Given the description of an element on the screen output the (x, y) to click on. 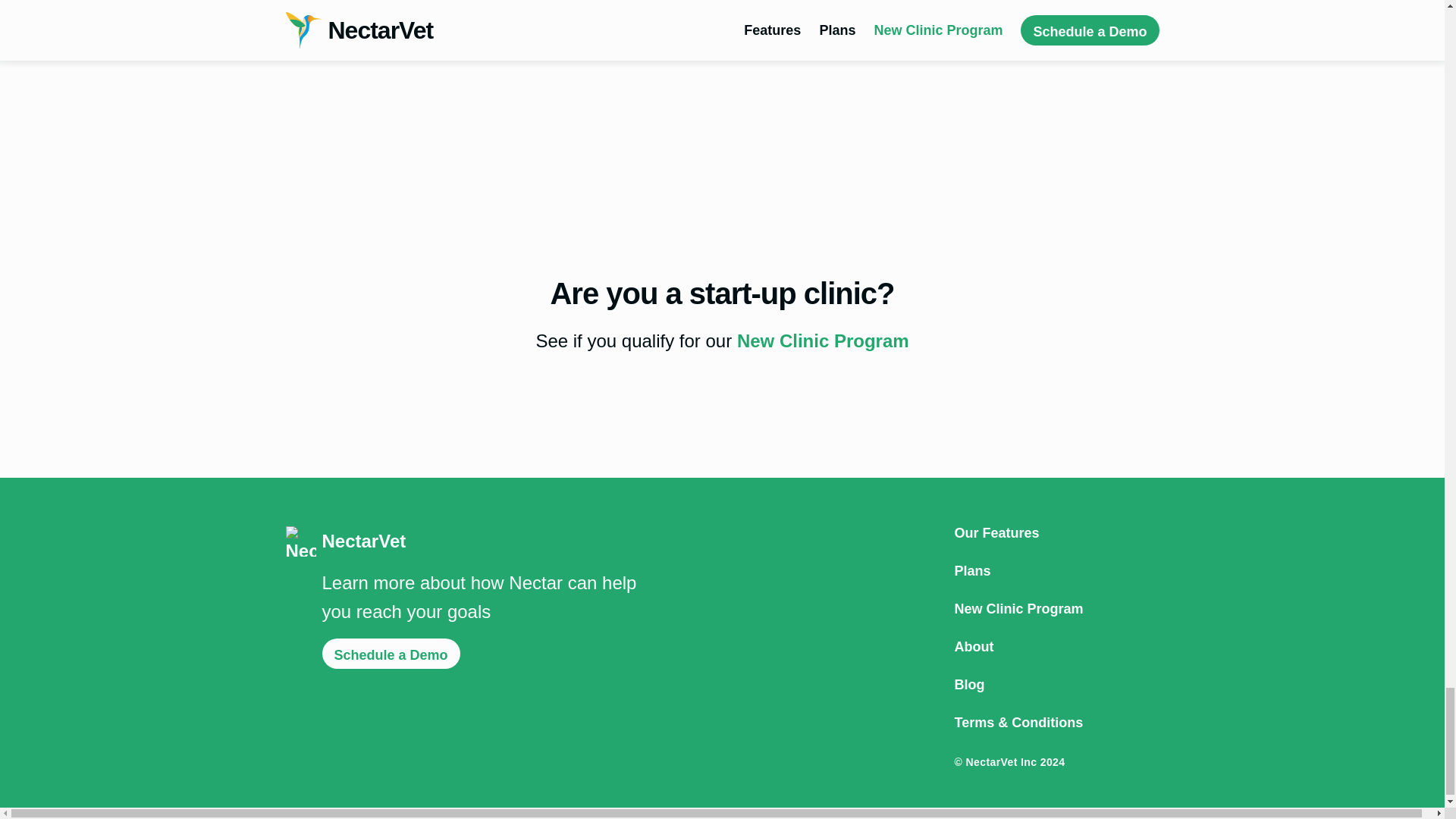
Blog (1055, 684)
Schedule a Demo (390, 653)
New Clinic Program (1055, 608)
Plans (1055, 571)
NectarVet (462, 541)
New Clinic Program (822, 340)
Our Features (1055, 532)
Schedule a demo (365, 14)
Our Features (1055, 532)
NectarVet (462, 541)
About (1055, 646)
